Given the description of an element on the screen output the (x, y) to click on. 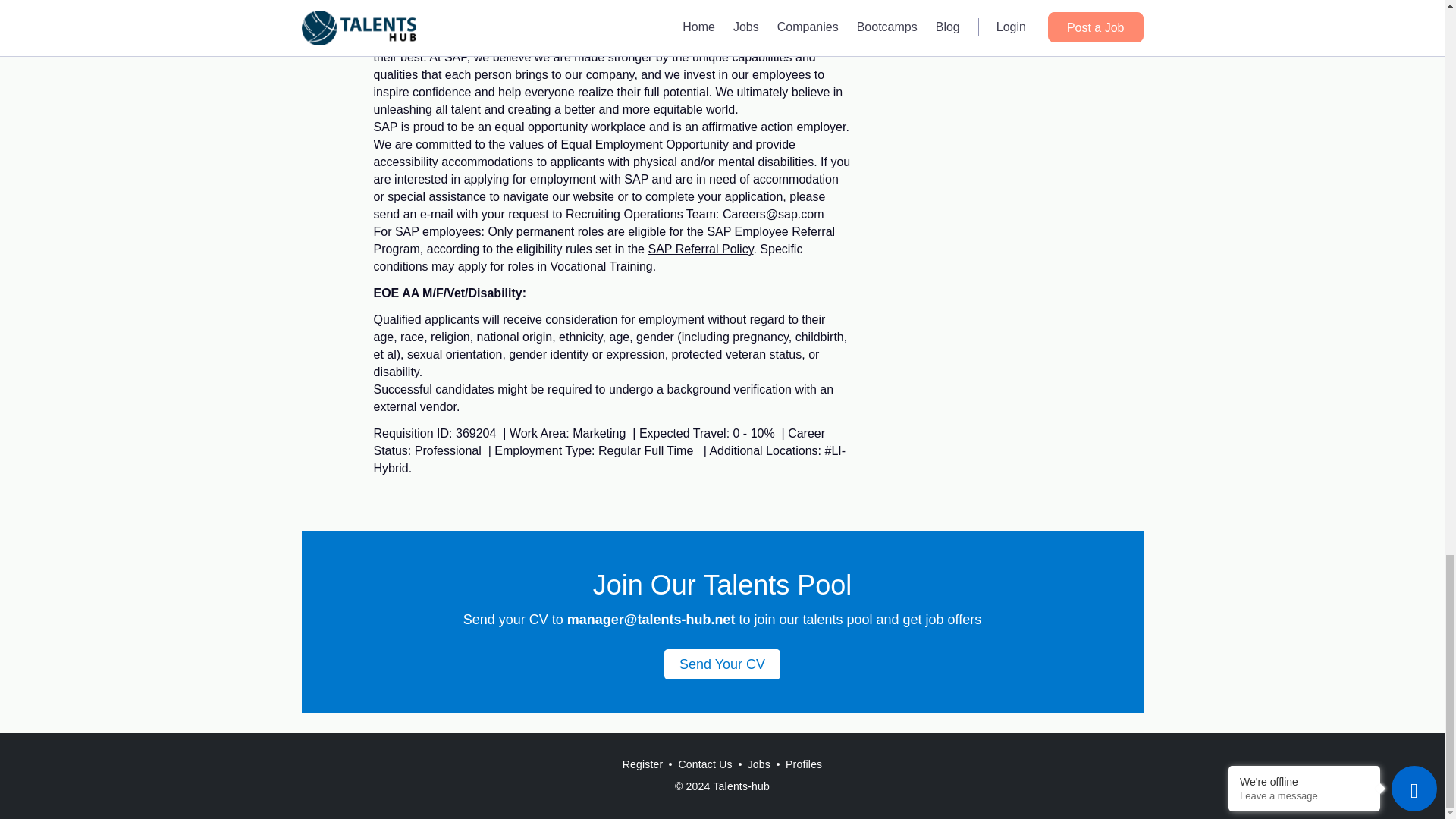
Register (642, 764)
SAP Referral Policy (699, 248)
Jobs (758, 764)
Profiles (803, 764)
Send Your CV (721, 664)
Contact Us (704, 764)
